Given the description of an element on the screen output the (x, y) to click on. 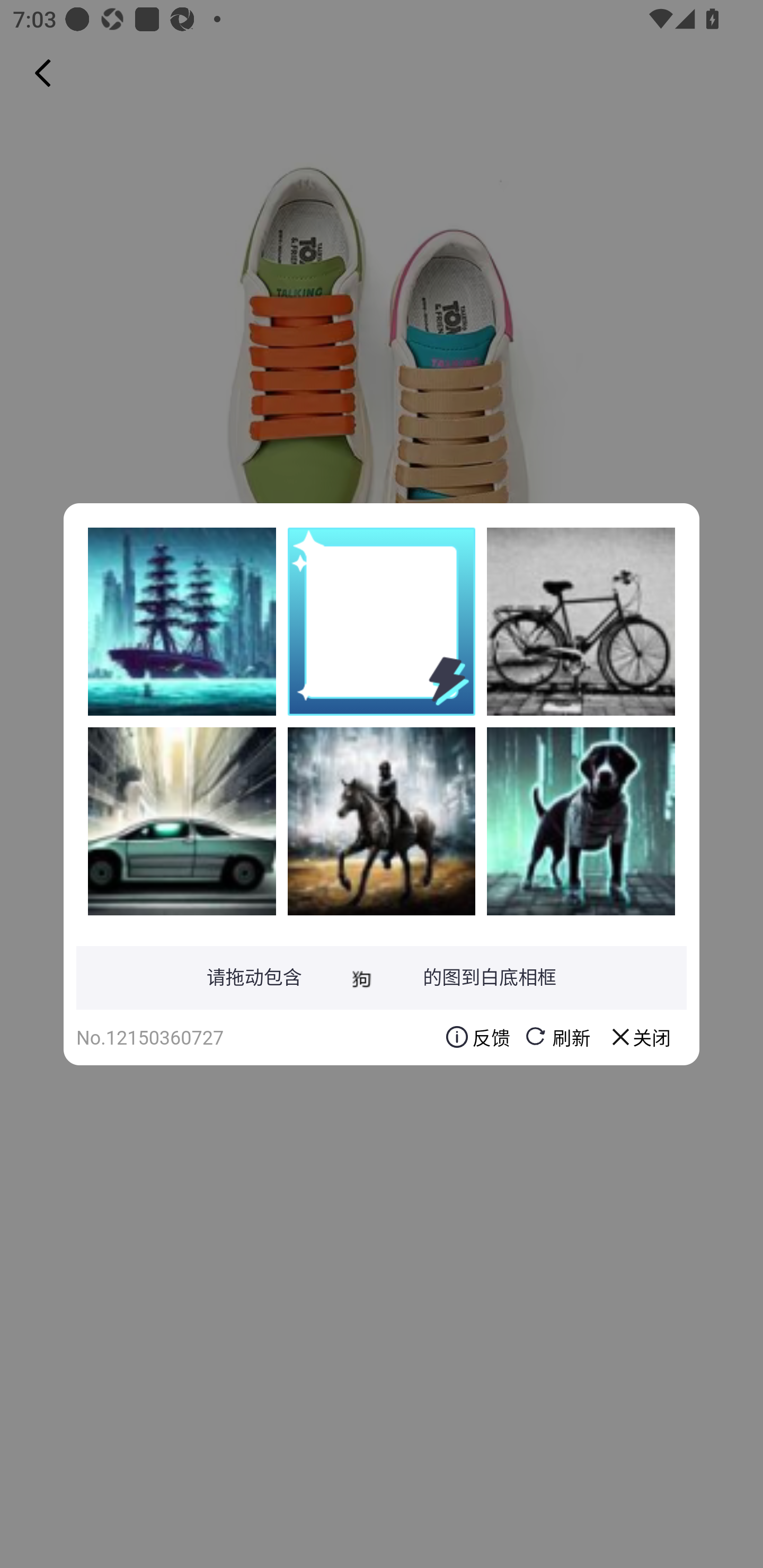
GwIWLIStg4P0SMjYfArn5T (181, 820)
+s (381, 820)
bgtxTO7Do5D (580, 820)
